Given the description of an element on the screen output the (x, y) to click on. 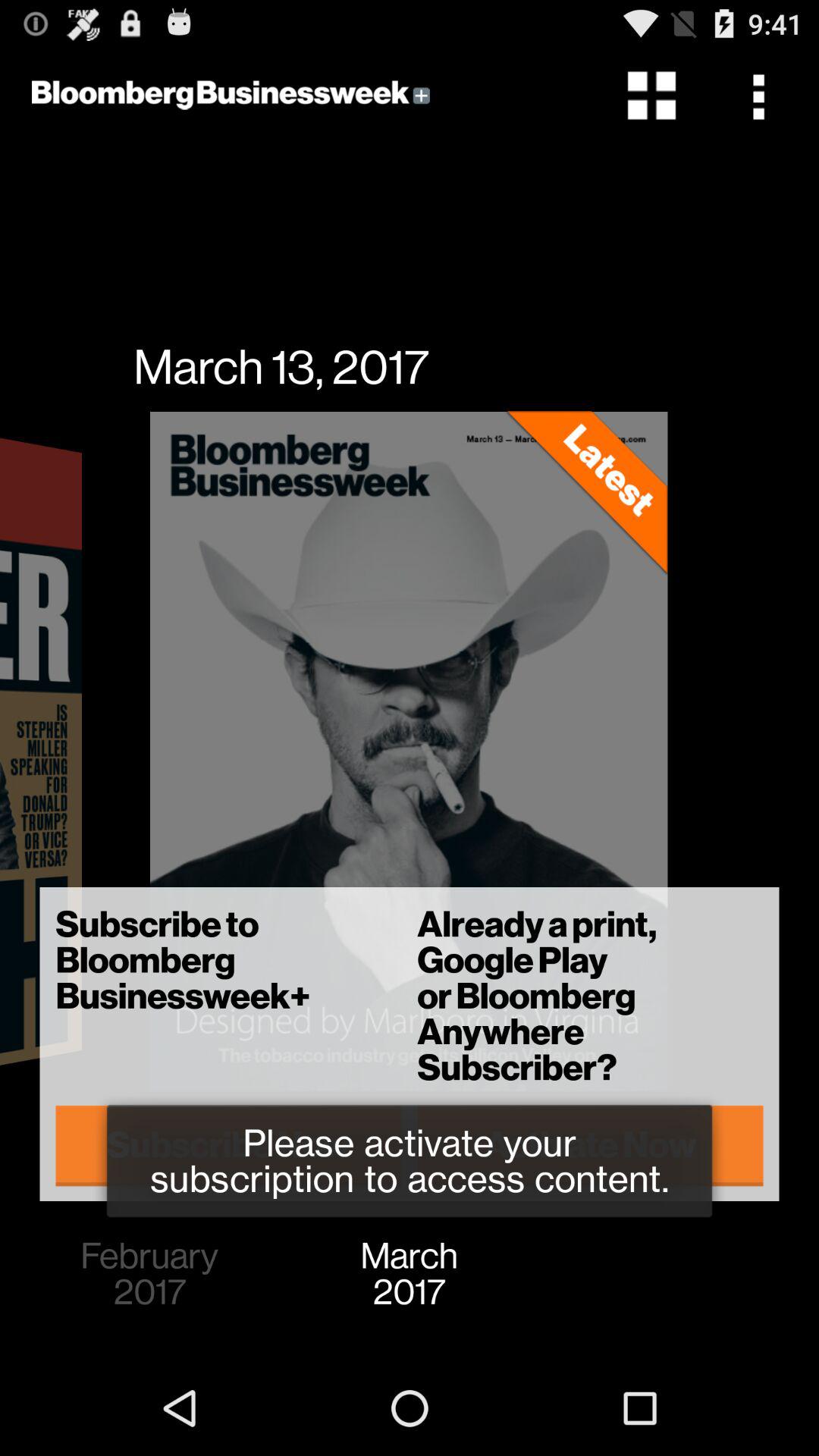
open the icon next to the subscribe to bloomberg icon (590, 1145)
